Given the description of an element on the screen output the (x, y) to click on. 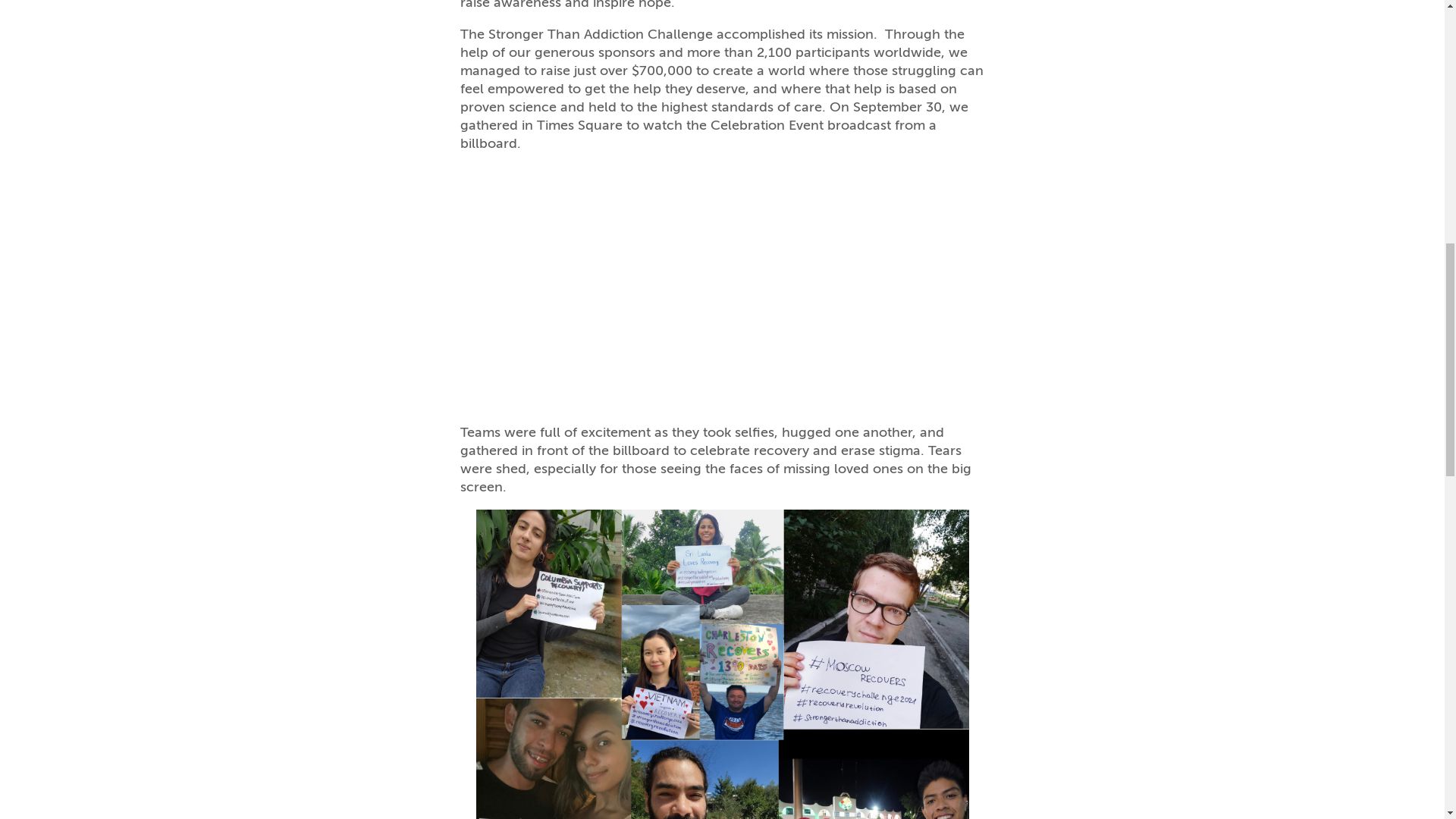
YouTube video player (671, 285)
